Given the description of an element on the screen output the (x, y) to click on. 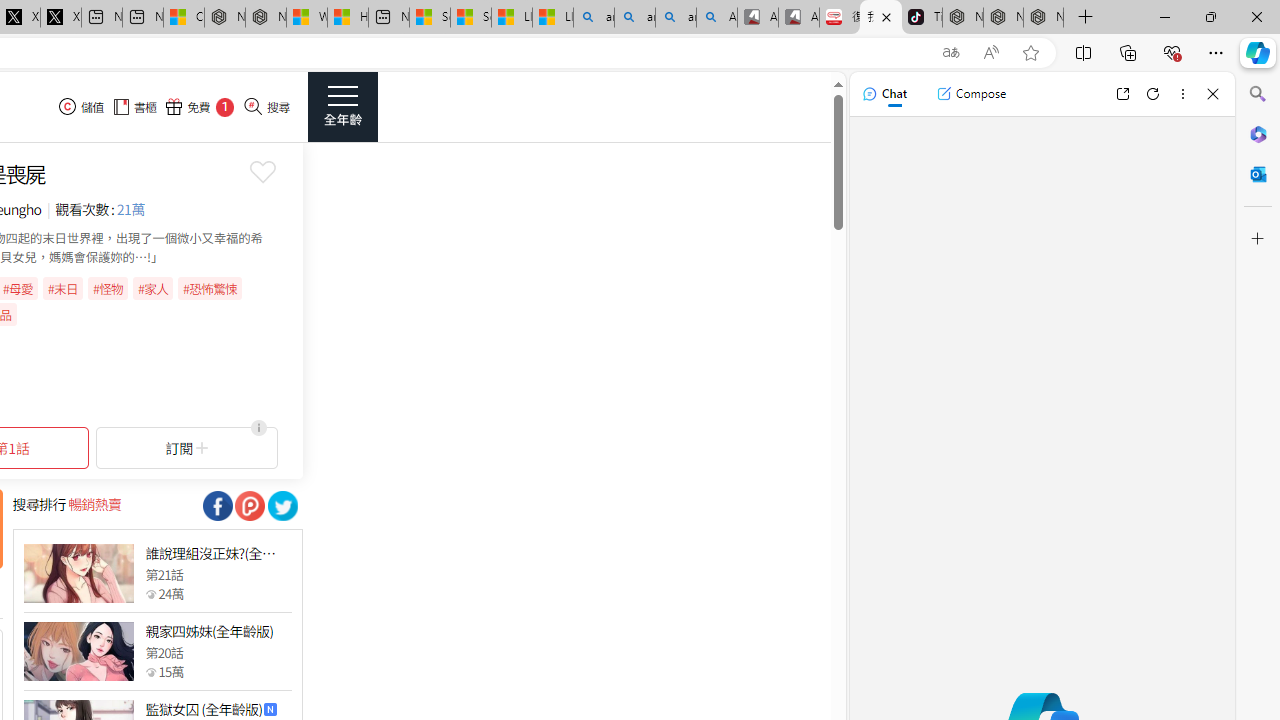
Nordace - Best Sellers (963, 17)
Class: socialShare (282, 506)
Close (1213, 93)
Collections (1128, 52)
Compose (971, 93)
Nordace Siena Pro 15 Backpack (1003, 17)
X (60, 17)
Add this page to favorites (Ctrl+D) (1030, 53)
Class: side_menu_btn actionRightMenuBtn (342, 106)
Close tab (886, 16)
